Given the description of an element on the screen output the (x, y) to click on. 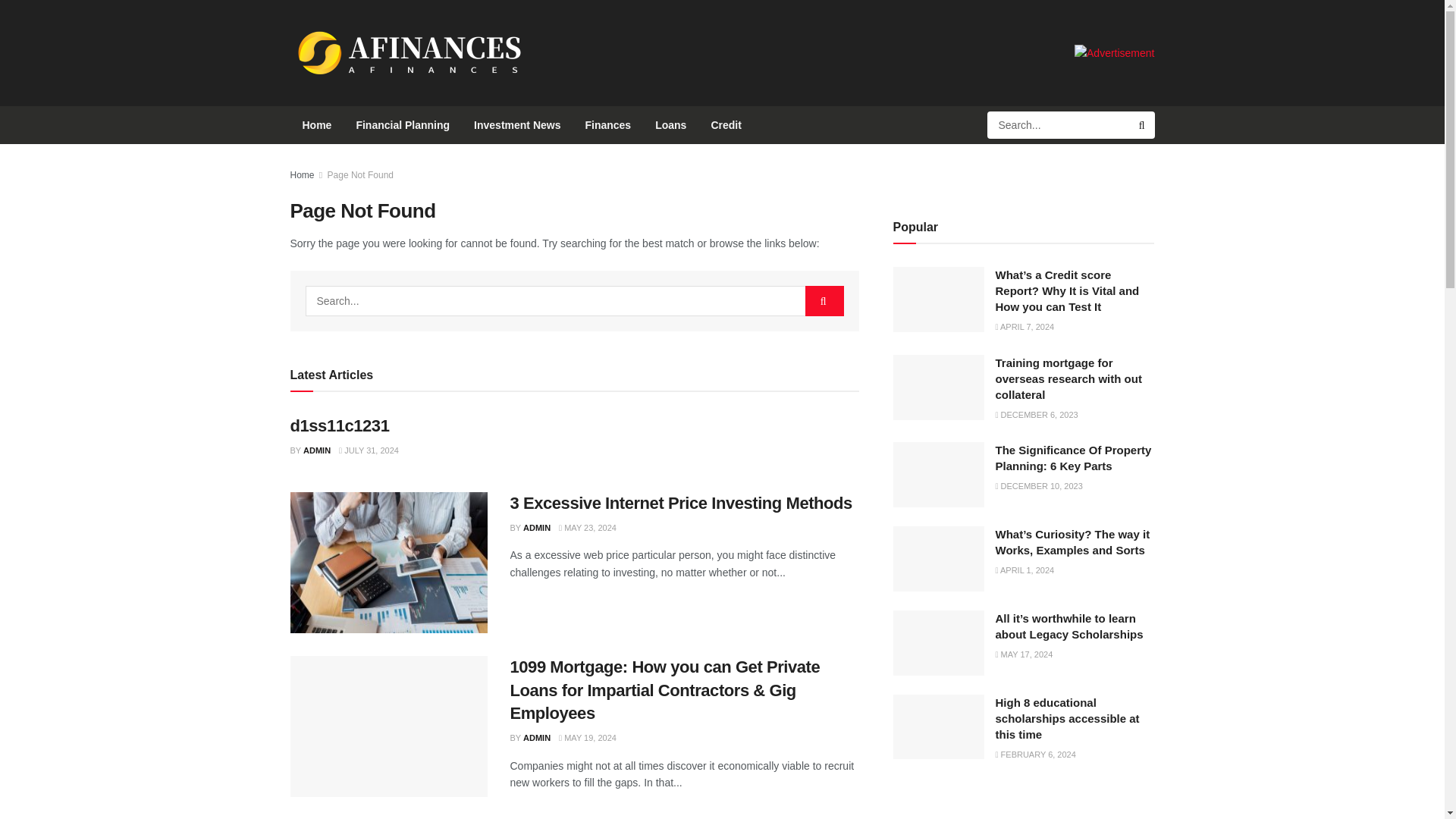
ADMIN (536, 527)
d1ss11c1231 (338, 425)
Page Not Found (360, 174)
MAY 23, 2024 (587, 527)
JULY 31, 2024 (368, 450)
Credit (725, 125)
3 Excessive Internet Price Investing Methods (680, 502)
Investment News (516, 125)
Finances (607, 125)
Loans (670, 125)
